Given the description of an element on the screen output the (x, y) to click on. 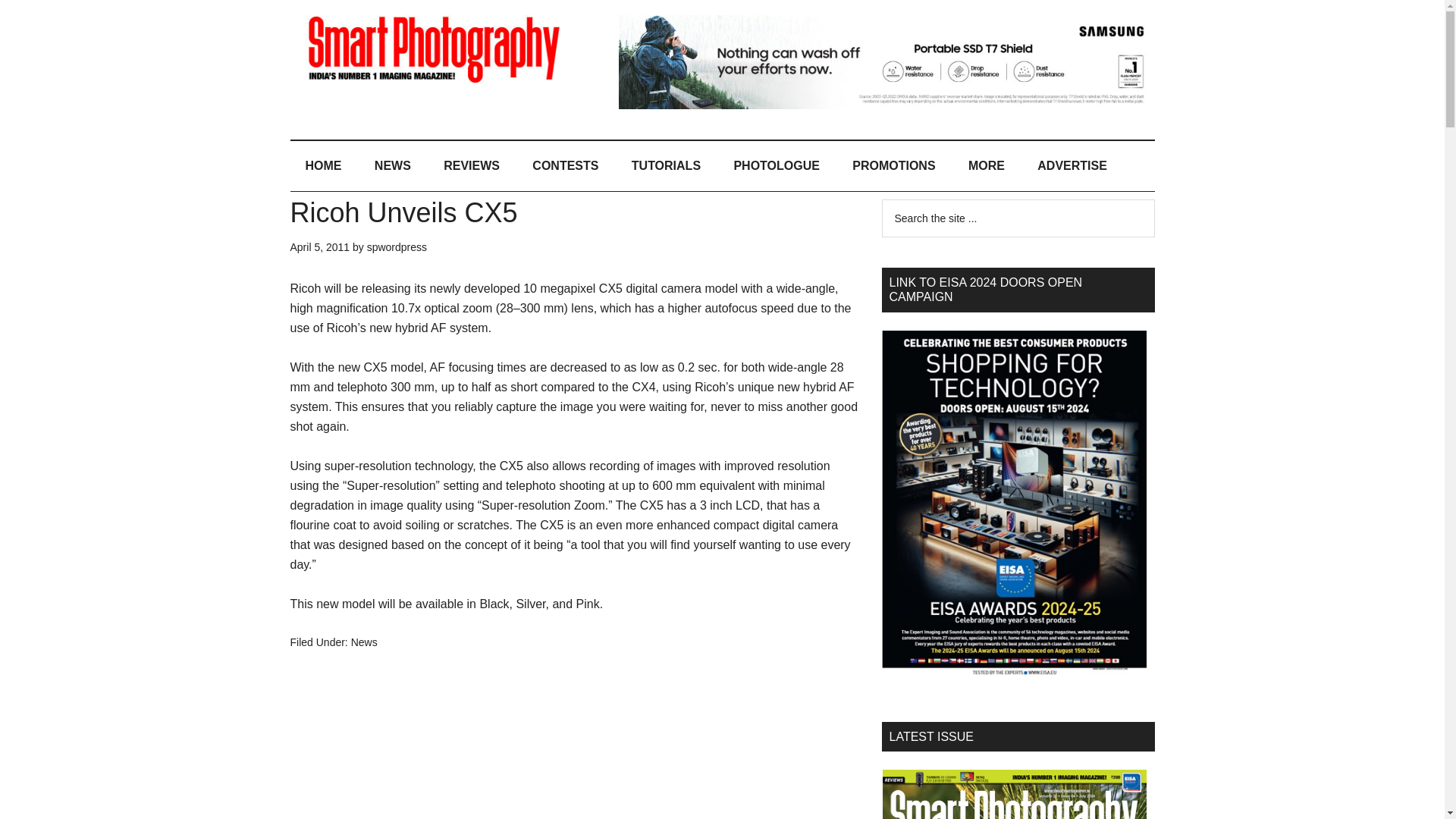
REVIEWS (471, 165)
spwordpress (396, 246)
CONTESTS (564, 165)
News (363, 642)
PHOTOLOGUE (775, 165)
HOME (322, 165)
NEWS (392, 165)
PROMOTIONS (893, 165)
TUTORIALS (665, 165)
ADVERTISE (1072, 165)
MORE (986, 165)
